Given the description of an element on the screen output the (x, y) to click on. 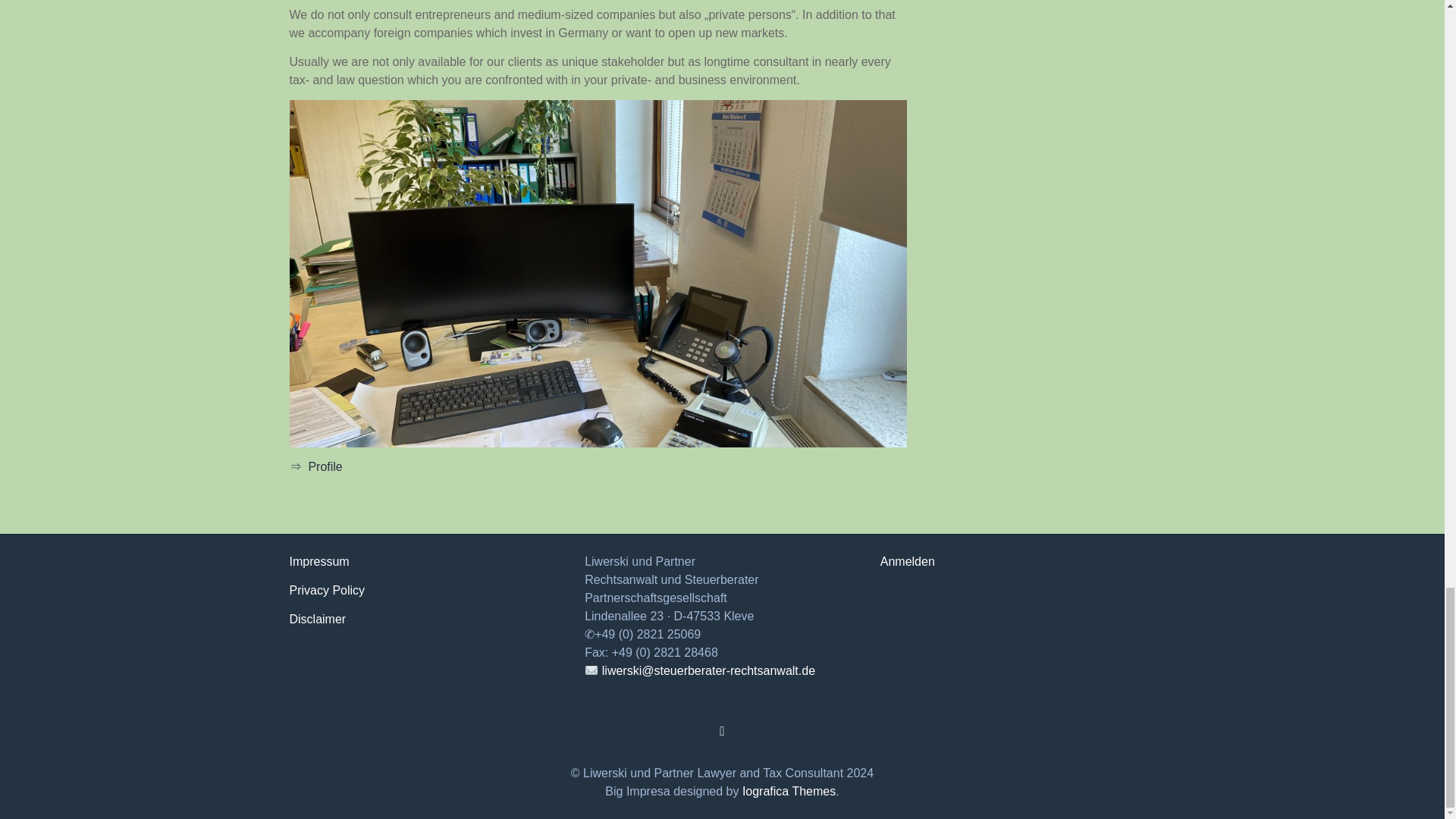
Iografica Themes (788, 790)
Impressum (319, 561)
Anmelden (907, 561)
Disclaimer (317, 618)
Privacy Policy (327, 590)
